Given the description of an element on the screen output the (x, y) to click on. 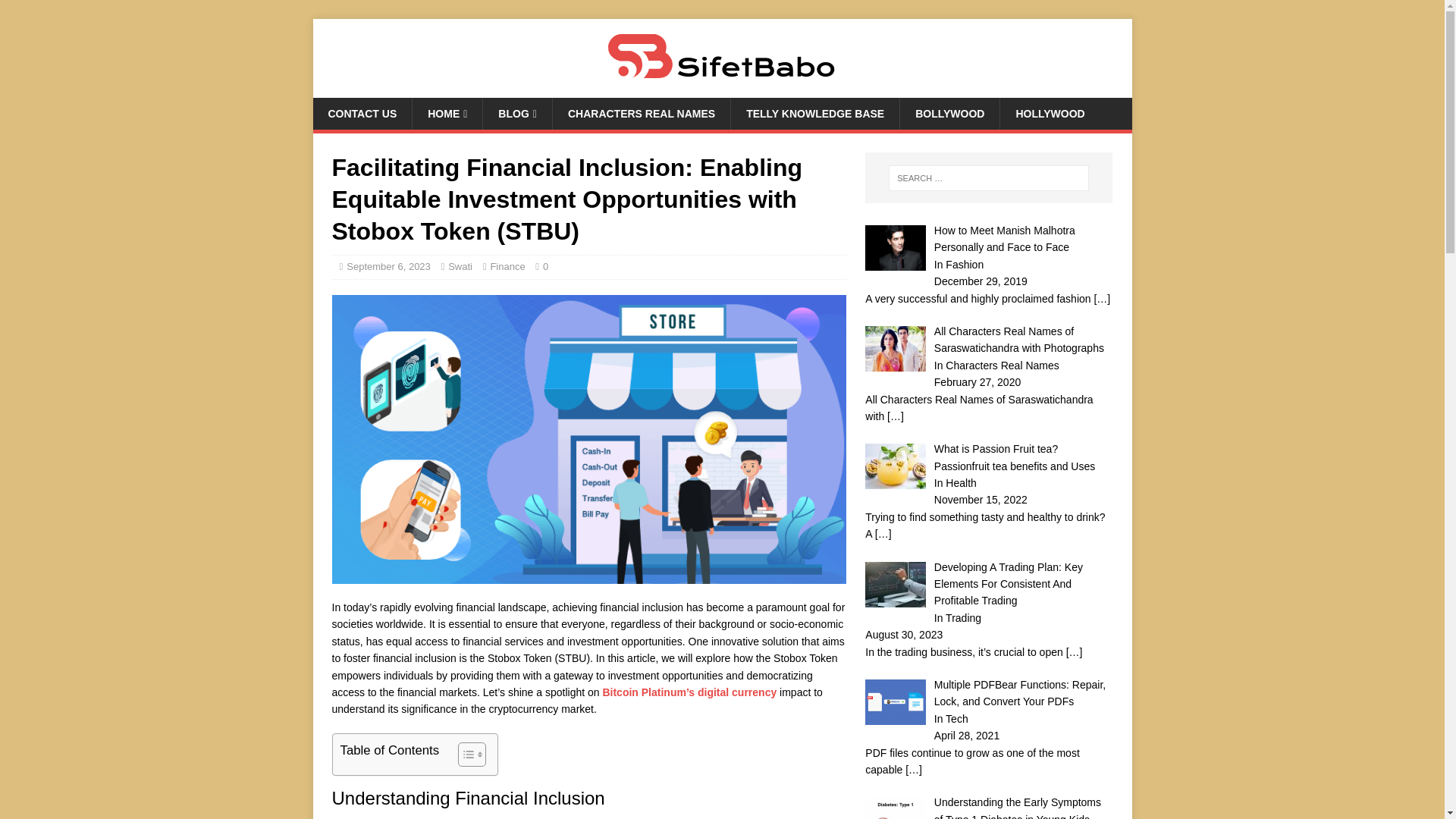
HOME (446, 113)
BLOG (516, 113)
CONTACT US (362, 113)
